Given the description of an element on the screen output the (x, y) to click on. 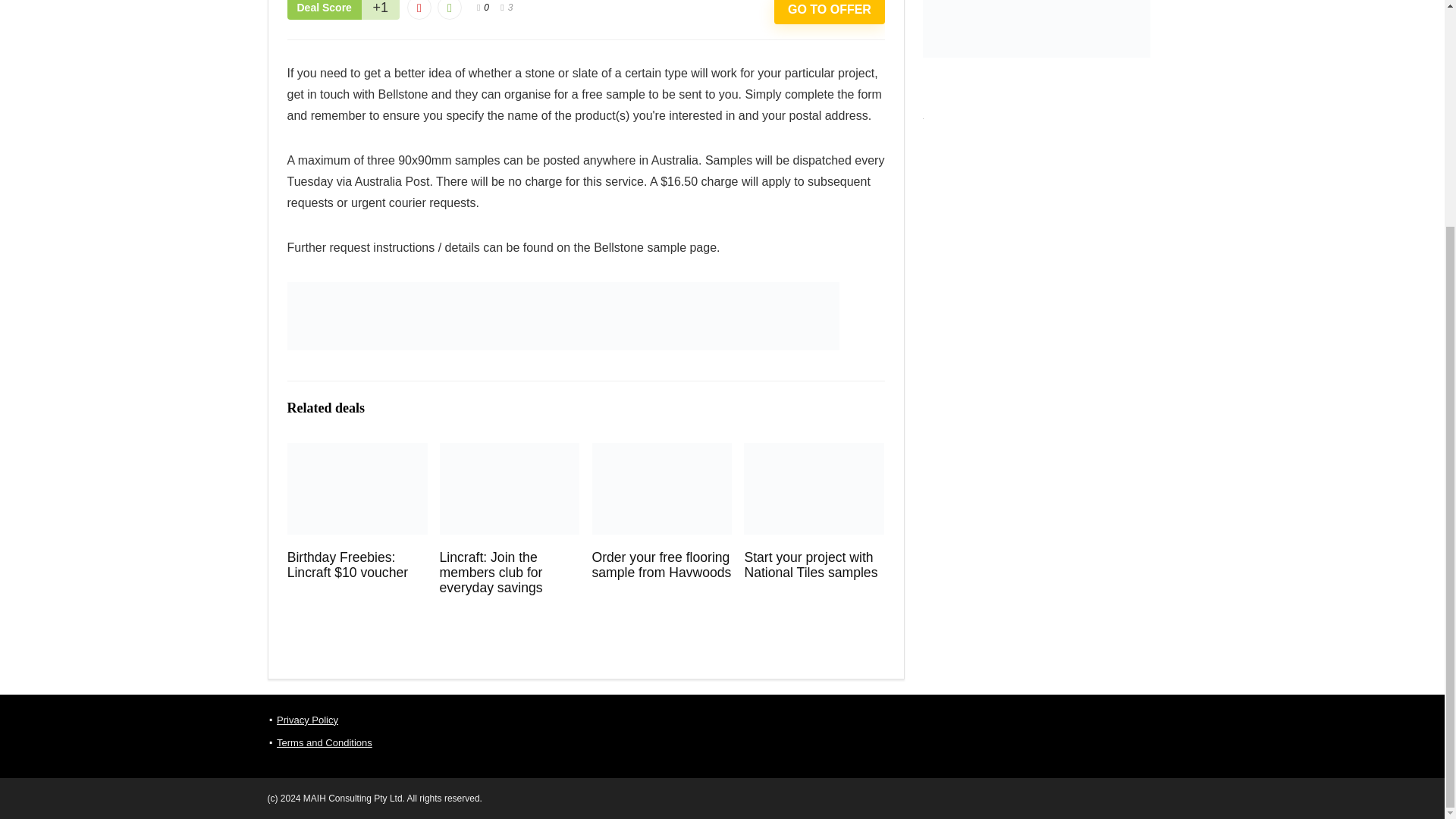
Vote down (418, 9)
GO TO OFFER (828, 12)
Vote up (449, 9)
